Given the description of an element on the screen output the (x, y) to click on. 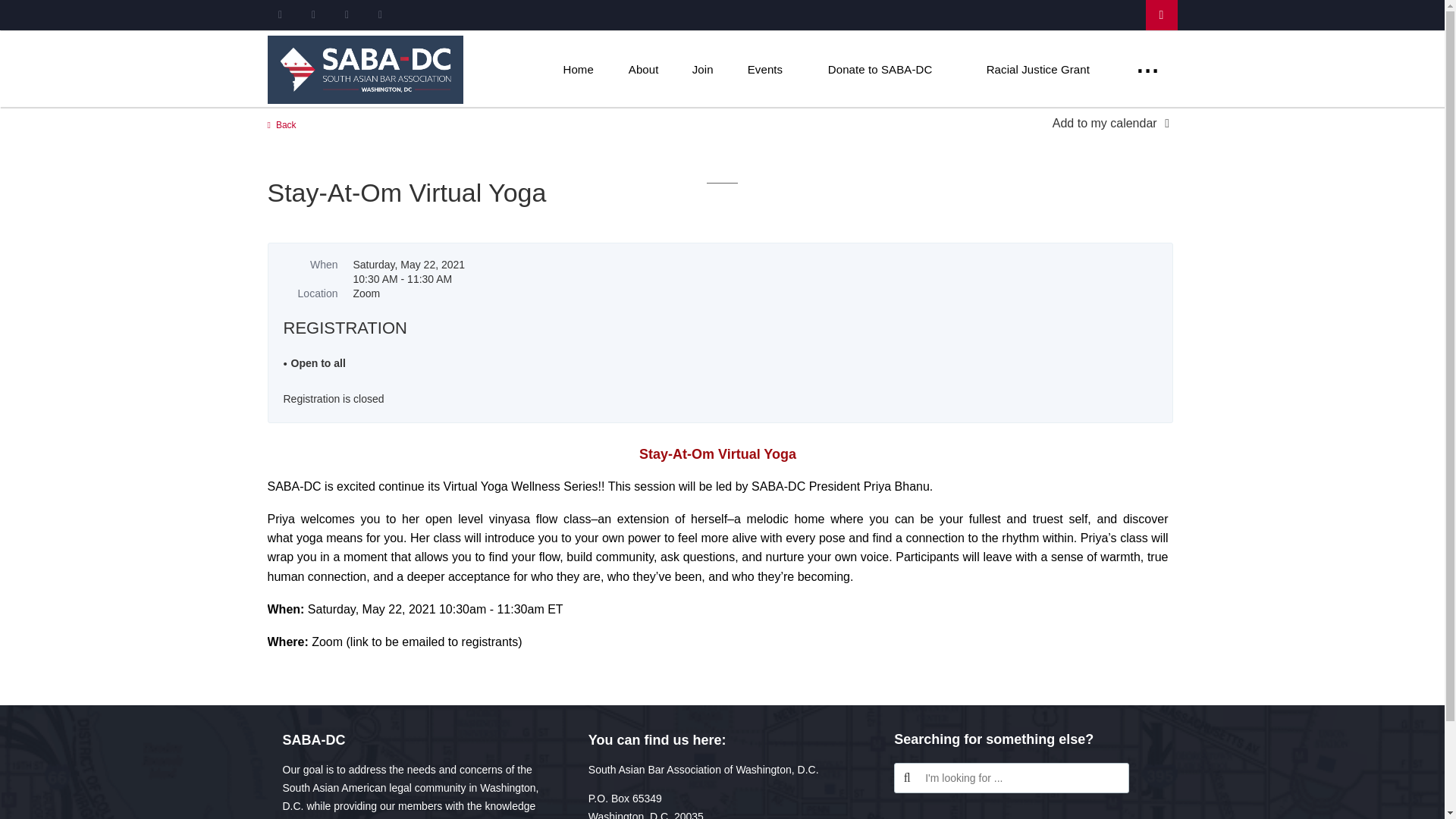
Home (578, 69)
Events (764, 69)
Log in (1160, 15)
Home (578, 69)
Donate to SABA-DC (879, 69)
About (643, 69)
Back (280, 124)
Racial Justice Grant (1037, 69)
Join (702, 69)
